Given the description of an element on the screen output the (x, y) to click on. 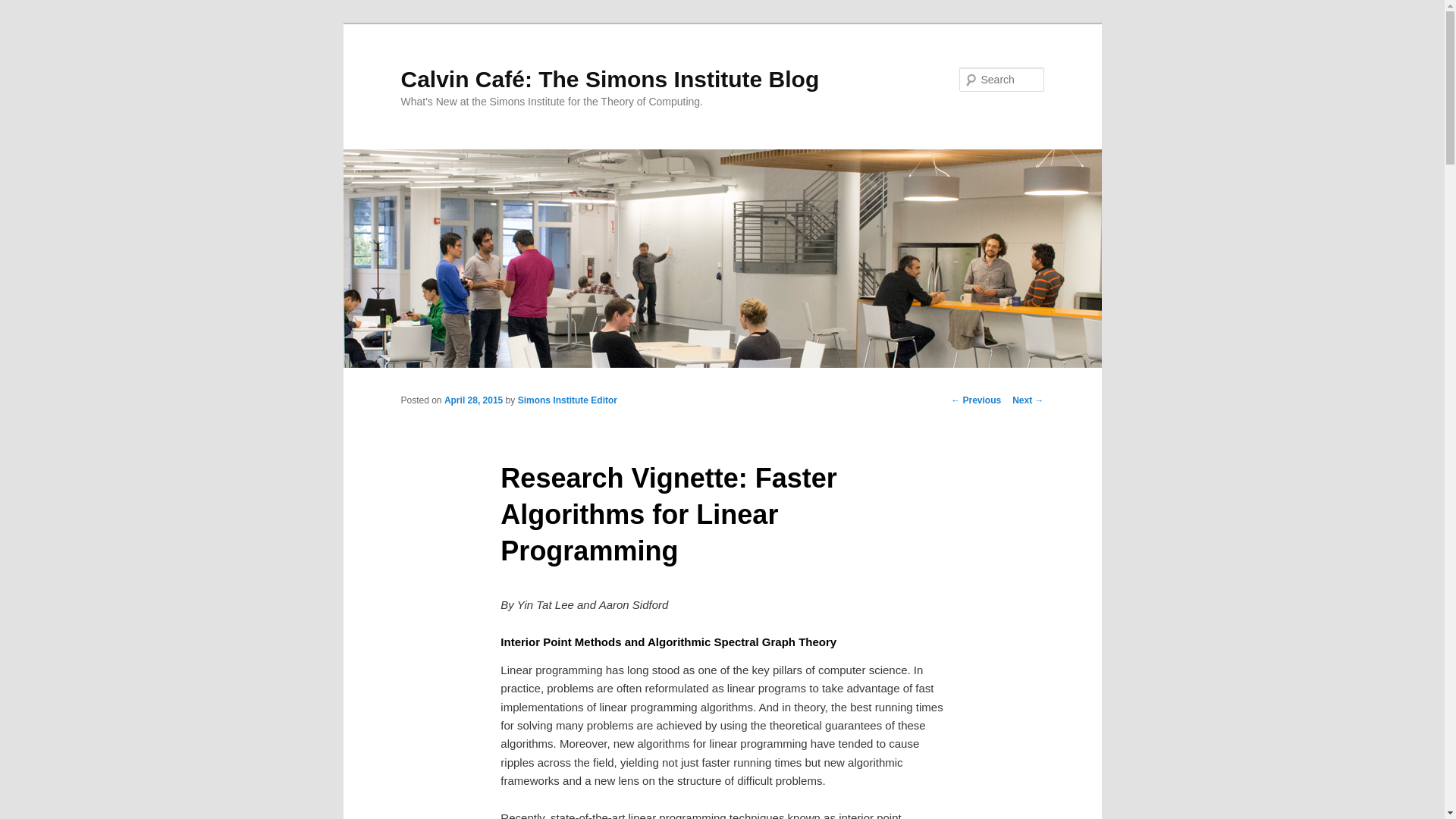
Simons Institute Editor (567, 399)
April 28, 2015 (473, 399)
Posts by Simons Institute Editor (567, 399)
12:00 am (473, 399)
Search (24, 8)
